Given the description of an element on the screen output the (x, y) to click on. 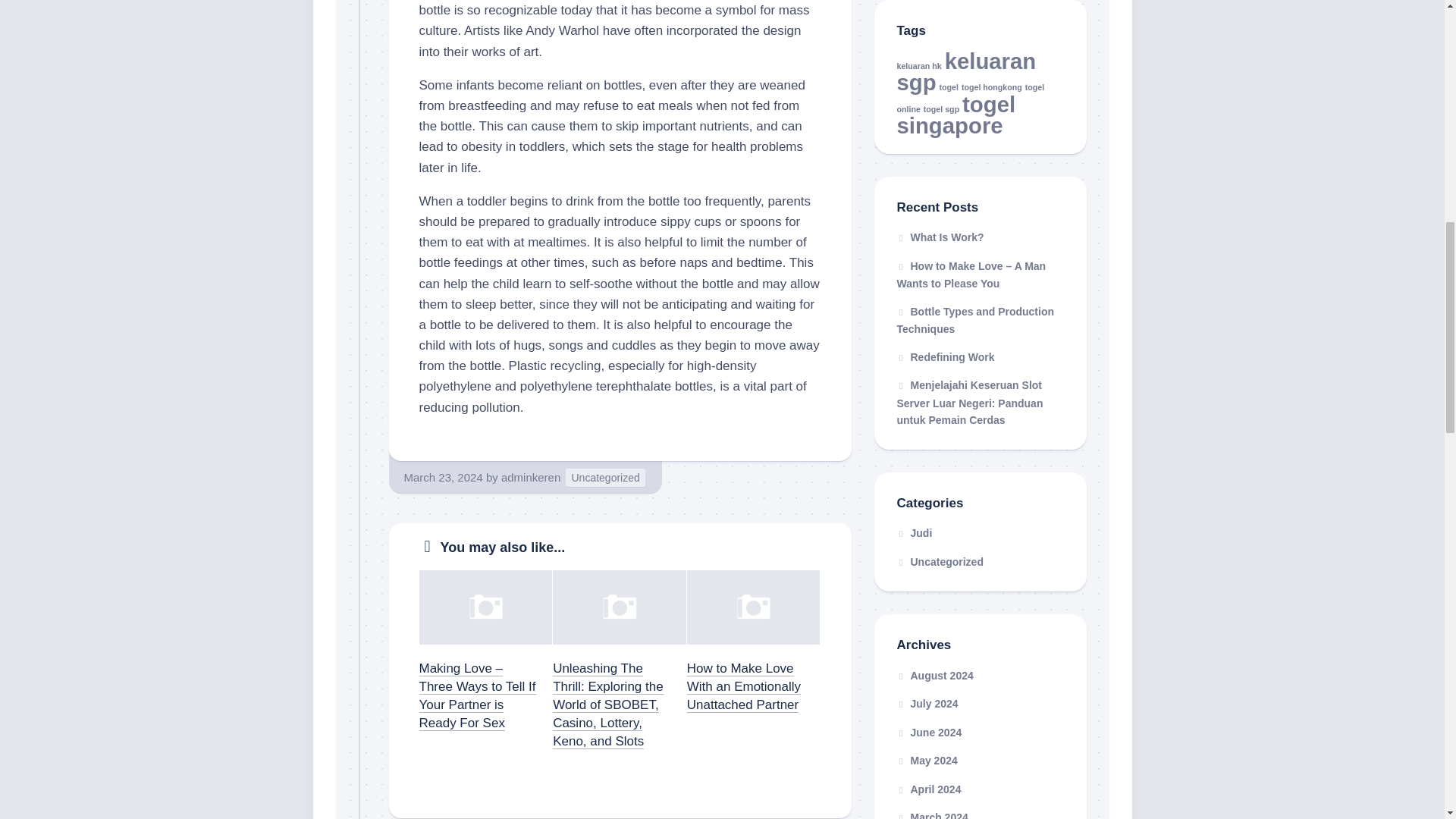
togel (948, 86)
togel singapore (955, 114)
Posts by adminkeren (530, 477)
keluaran sgp (965, 71)
keluaran hk (918, 64)
togel hongkong (991, 86)
How to Make Love With an Emotionally Unattached Partner (743, 685)
togel sgp (941, 108)
togel online (969, 97)
adminkeren (530, 477)
Uncategorized (605, 477)
